Given the description of an element on the screen output the (x, y) to click on. 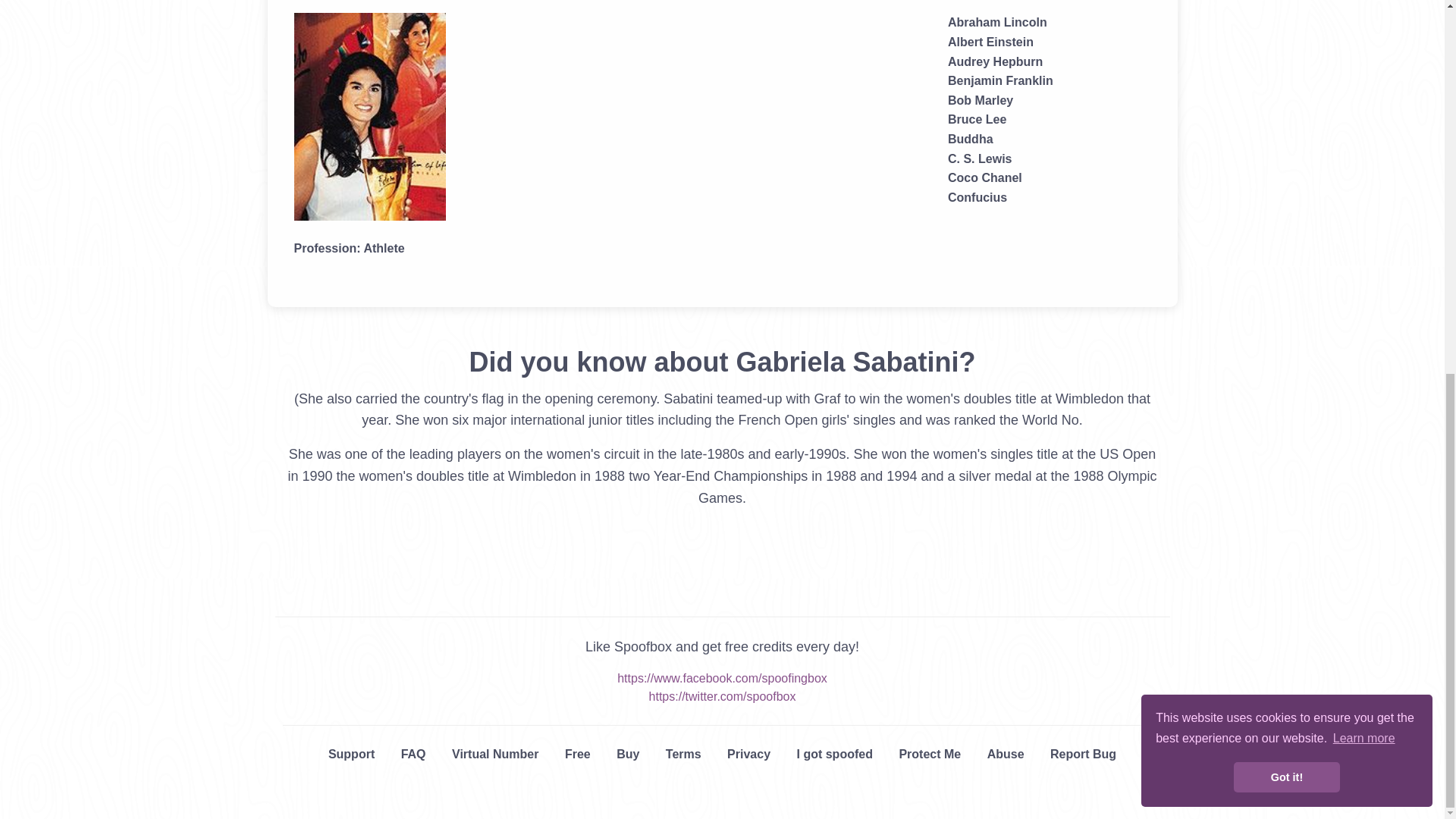
Got it! (1286, 91)
Learn more (1363, 53)
